Given the description of an element on the screen output the (x, y) to click on. 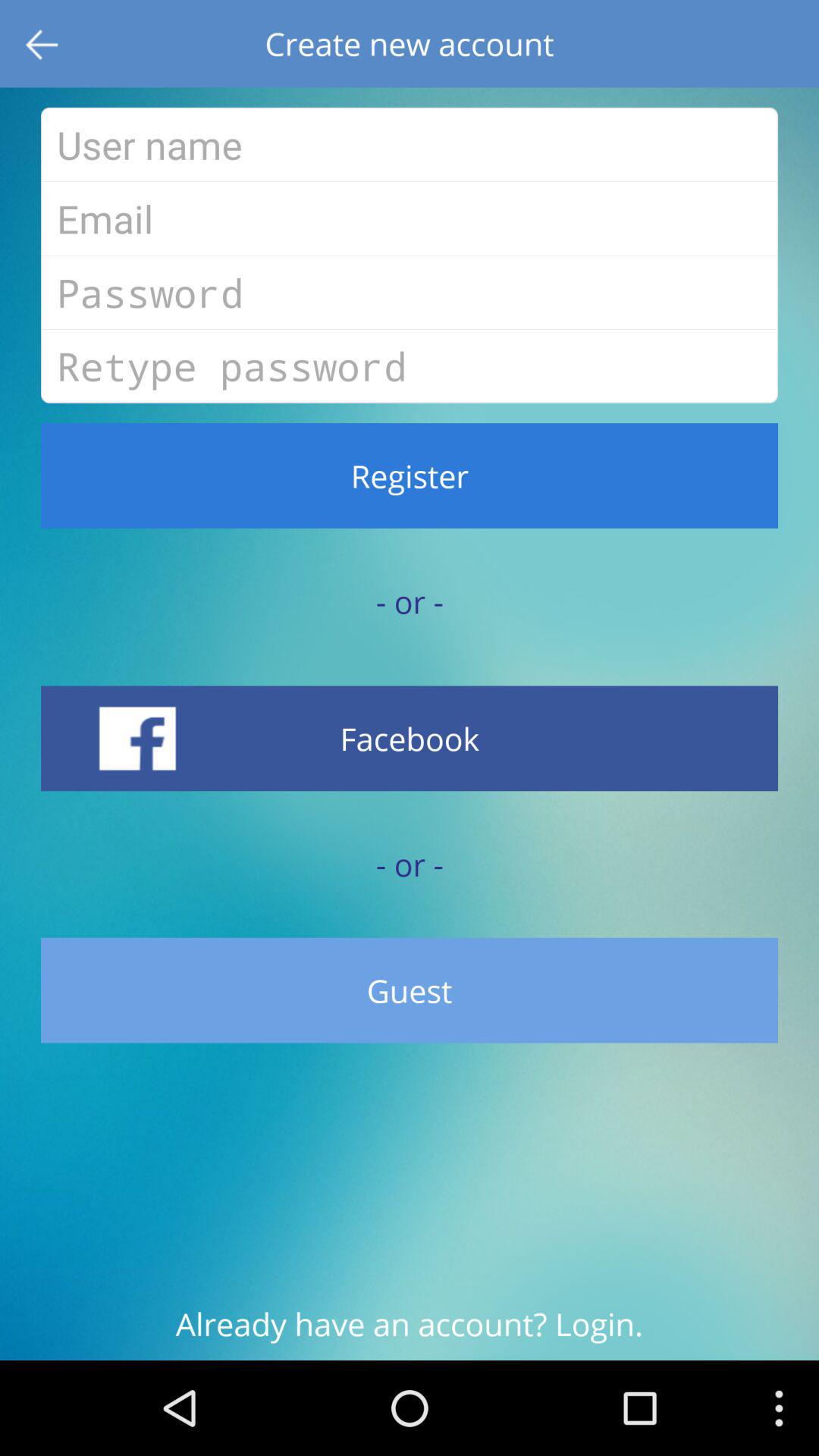
enter password again (409, 366)
